Given the description of an element on the screen output the (x, y) to click on. 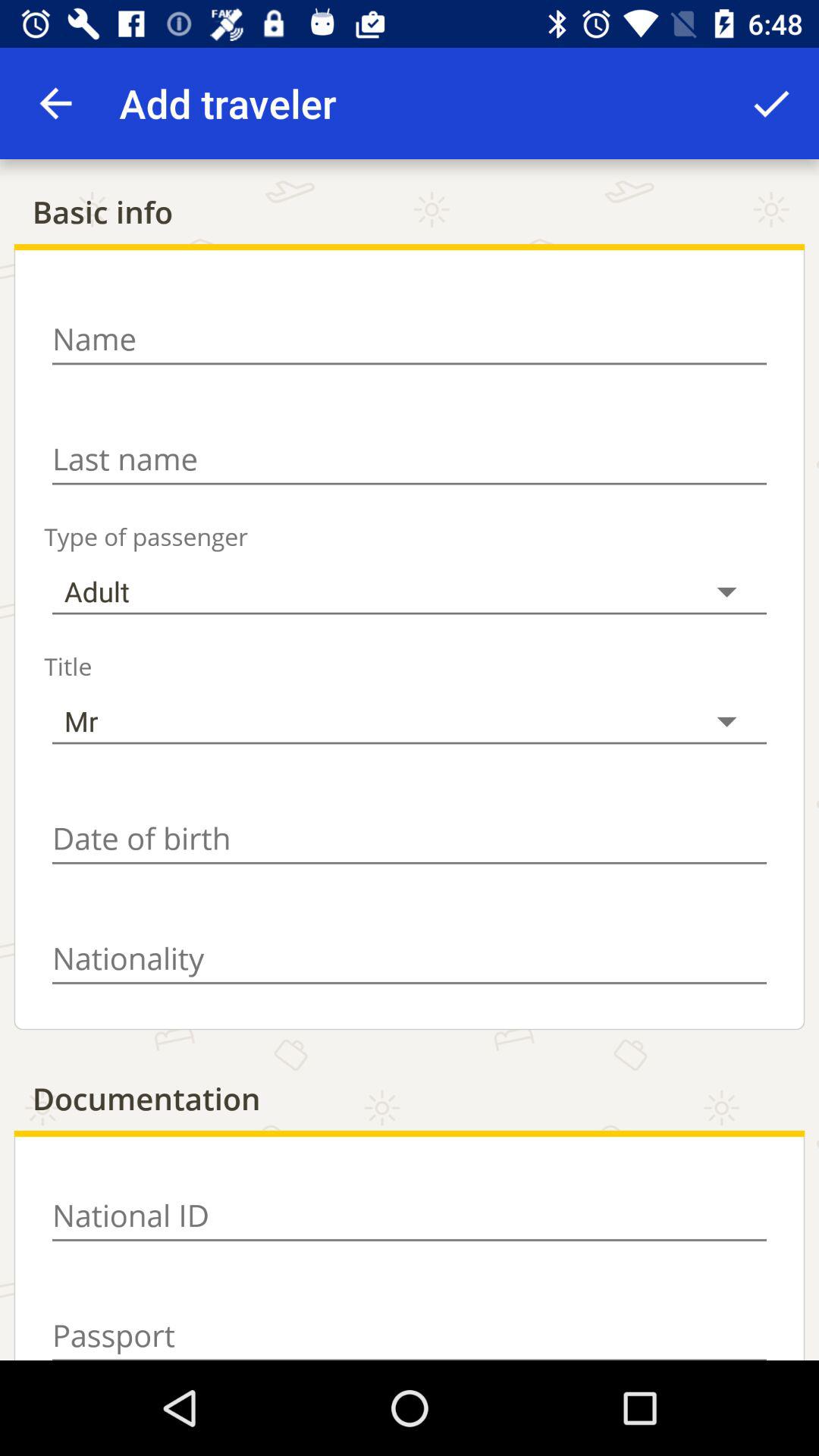
enter last name (409, 459)
